Given the description of an element on the screen output the (x, y) to click on. 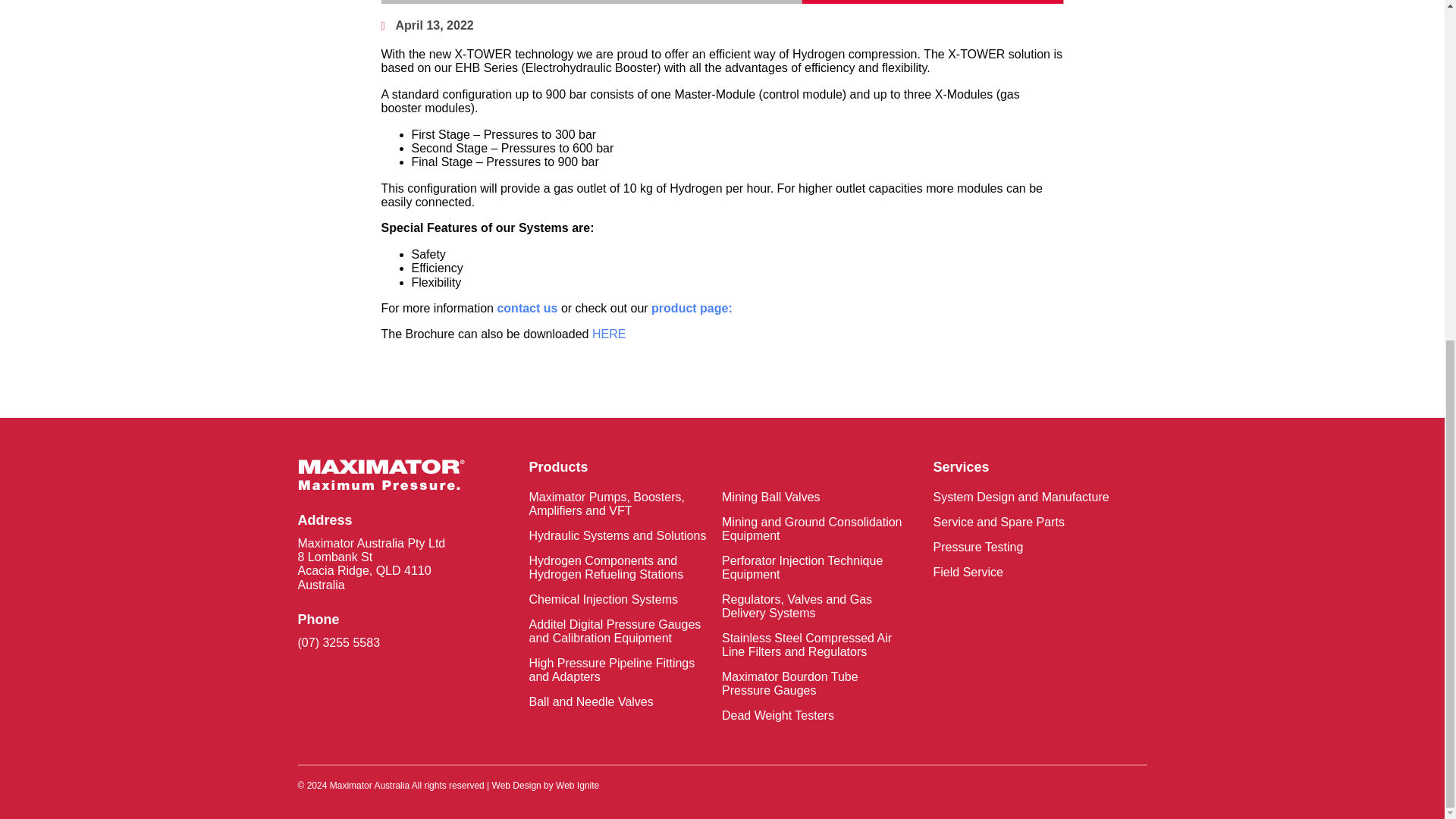
product page: (691, 308)
Maximator Pumps, Boosters, Amplifiers and VFT (619, 503)
April 13, 2022 (426, 25)
contact us (526, 308)
HERE (609, 333)
Hydraulic Systems and Solutions (619, 535)
